Given the description of an element on the screen output the (x, y) to click on. 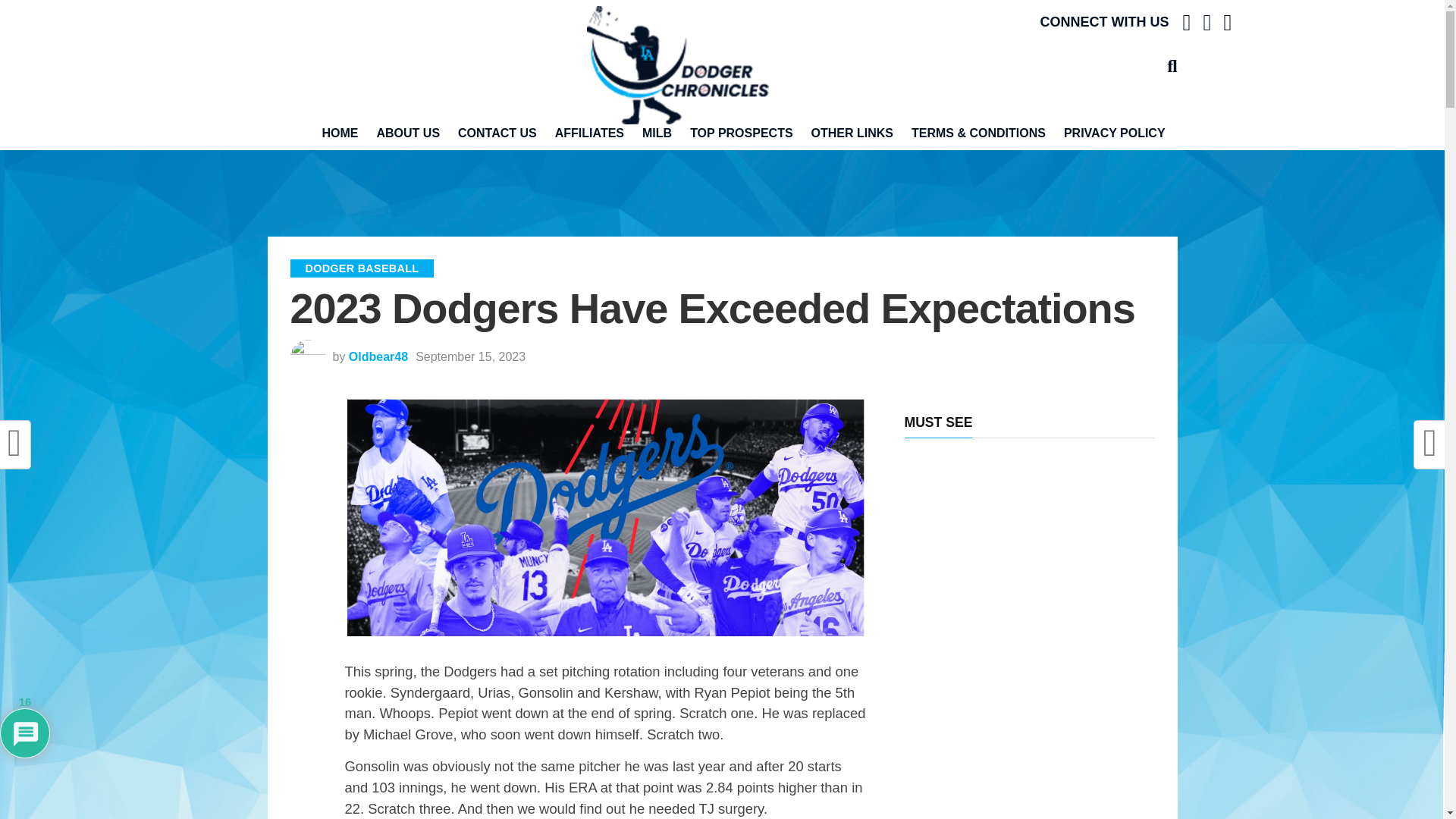
MILB (657, 133)
CONTACT US (497, 133)
OTHER LINKS (852, 133)
PRIVACY POLICY (1114, 133)
TOP PROSPECTS (741, 133)
HOME (339, 133)
ABOUT US (407, 133)
Posts by Oldbear48 (378, 356)
AFFILIATES (589, 133)
Oldbear48 (378, 356)
